Given the description of an element on the screen output the (x, y) to click on. 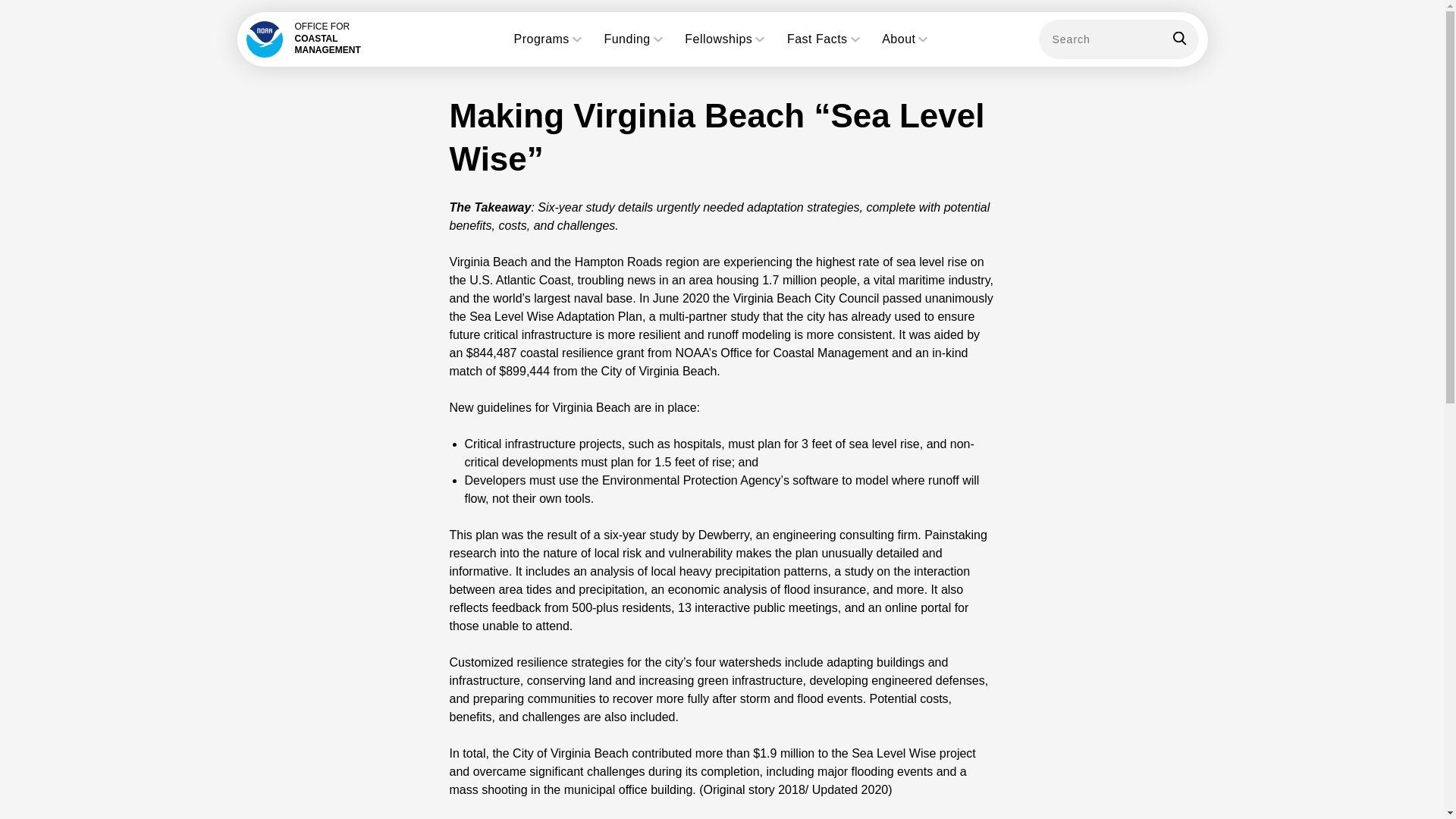
Fast Facts (825, 39)
Fellowships (725, 39)
Funding (634, 39)
Programs (549, 39)
